Given the description of an element on the screen output the (x, y) to click on. 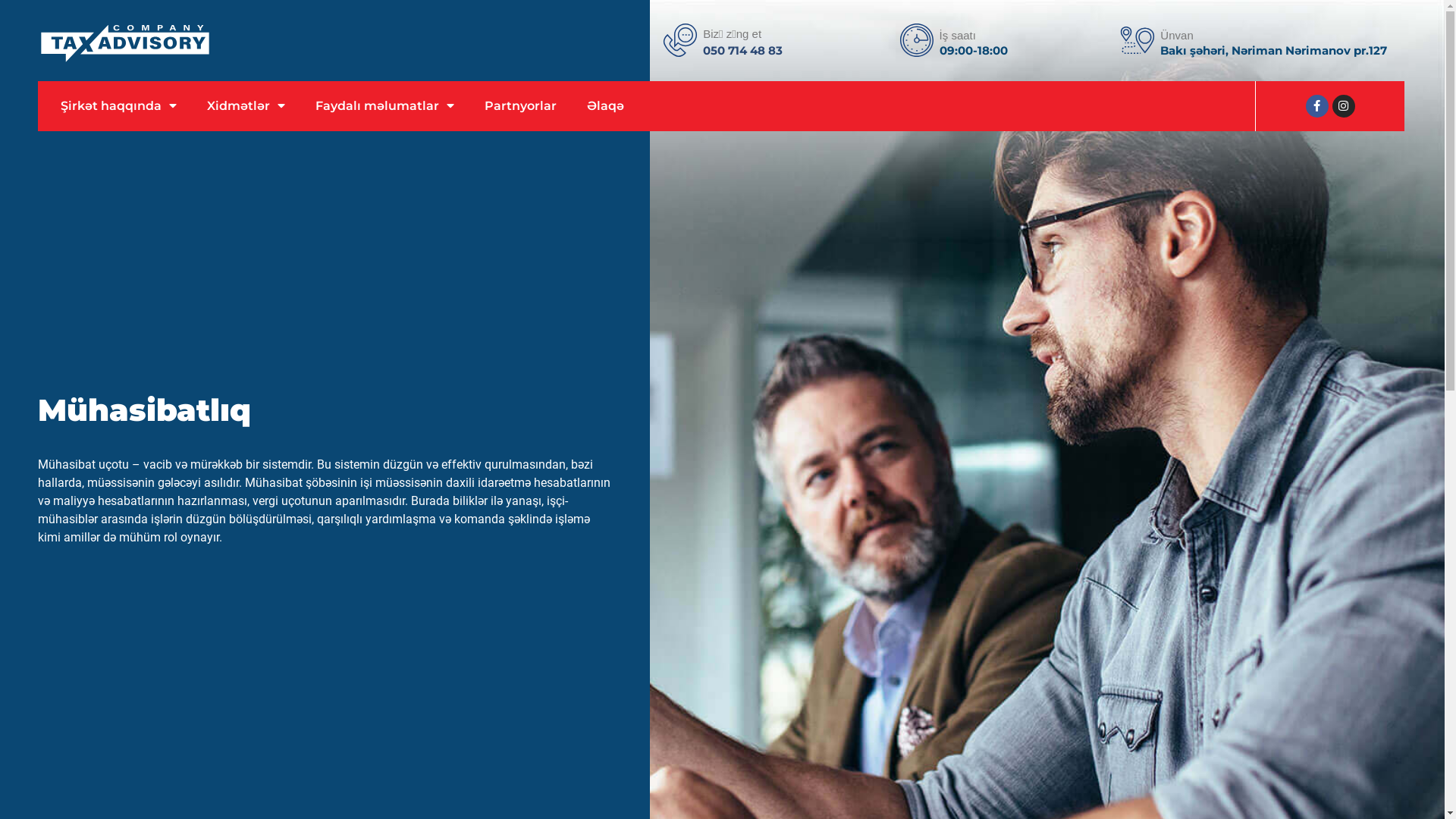
Partnyorlar Element type: text (520, 105)
050 714 48 83 Element type: text (742, 50)
